Given the description of an element on the screen output the (x, y) to click on. 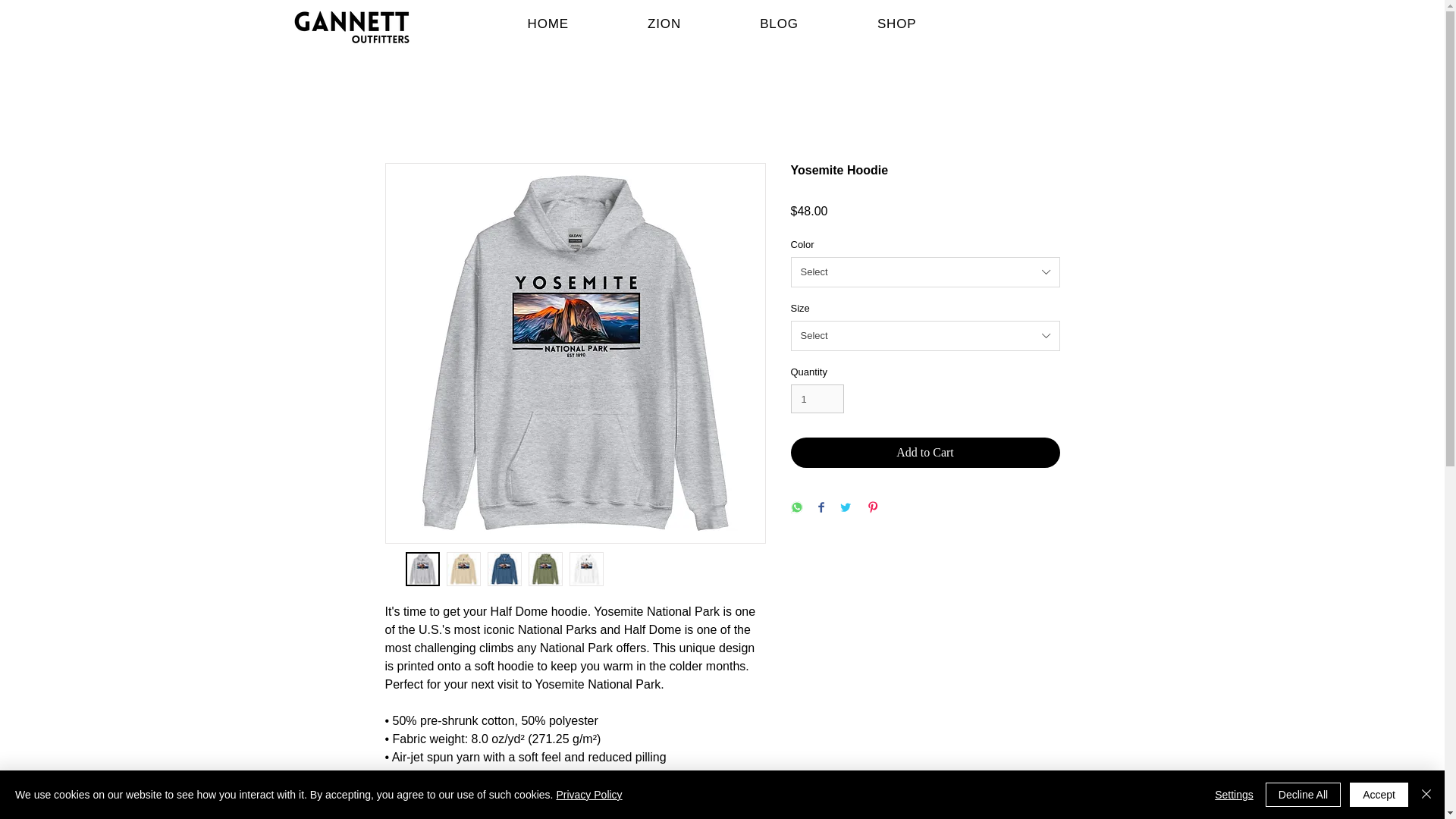
BLOG (778, 24)
Add to Cart (924, 452)
Select (924, 272)
HOME (548, 24)
Privacy Policy (588, 794)
Decline All (1302, 794)
ZION (664, 24)
Select (924, 336)
1 (817, 398)
Accept (1378, 794)
